Given the description of an element on the screen output the (x, y) to click on. 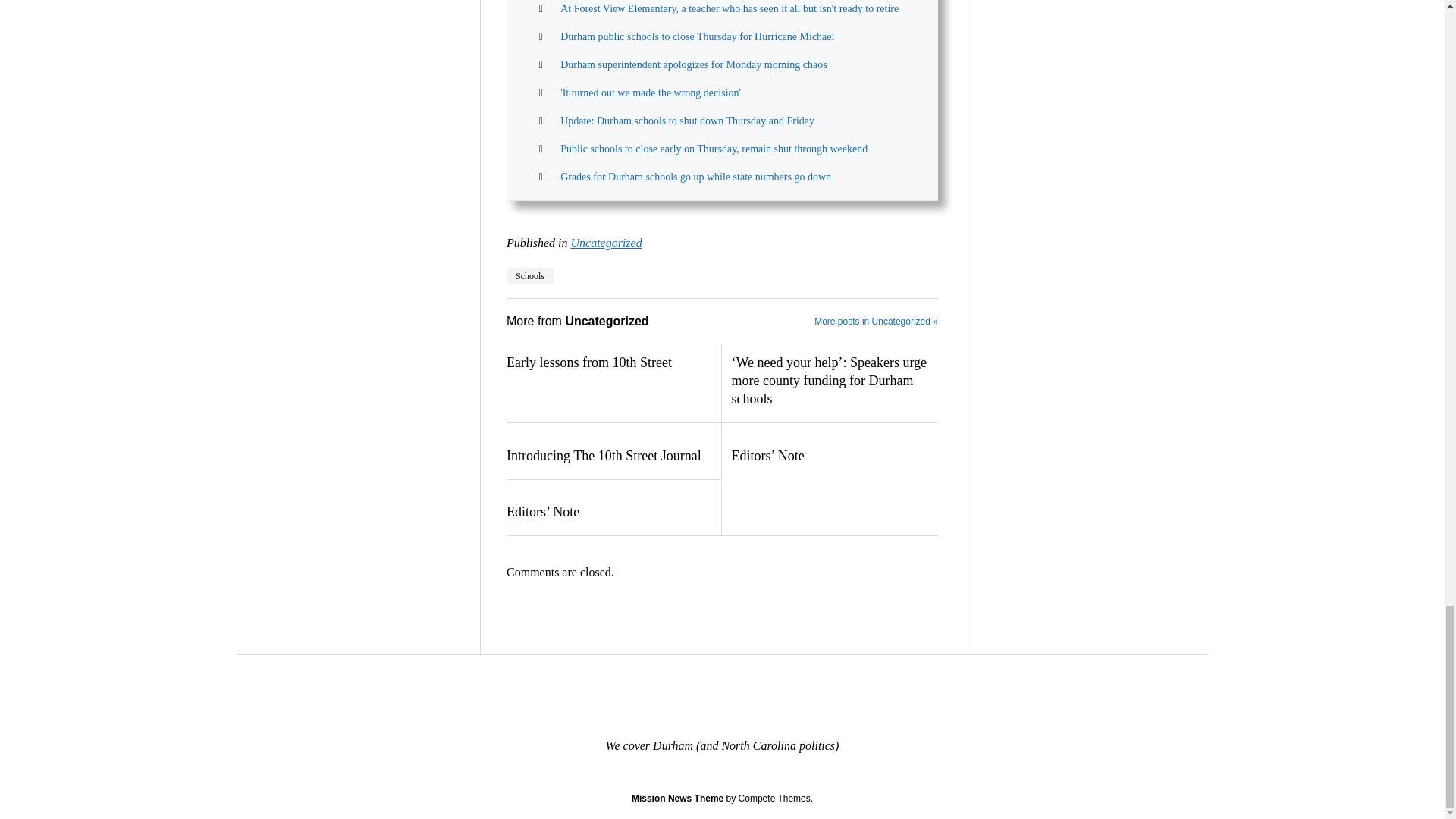
'It turned out we made the wrong decision' (650, 92)
View all posts tagged Schools (529, 275)
Uncategorized (606, 242)
Update: Durham schools to shut down Thursday and Friday (686, 120)
Grades for Durham schools go up while state numbers go down (695, 176)
Durham superintendent apologizes for Monday morning chaos (693, 64)
View all posts in Uncategorized (606, 242)
